Given the description of an element on the screen output the (x, y) to click on. 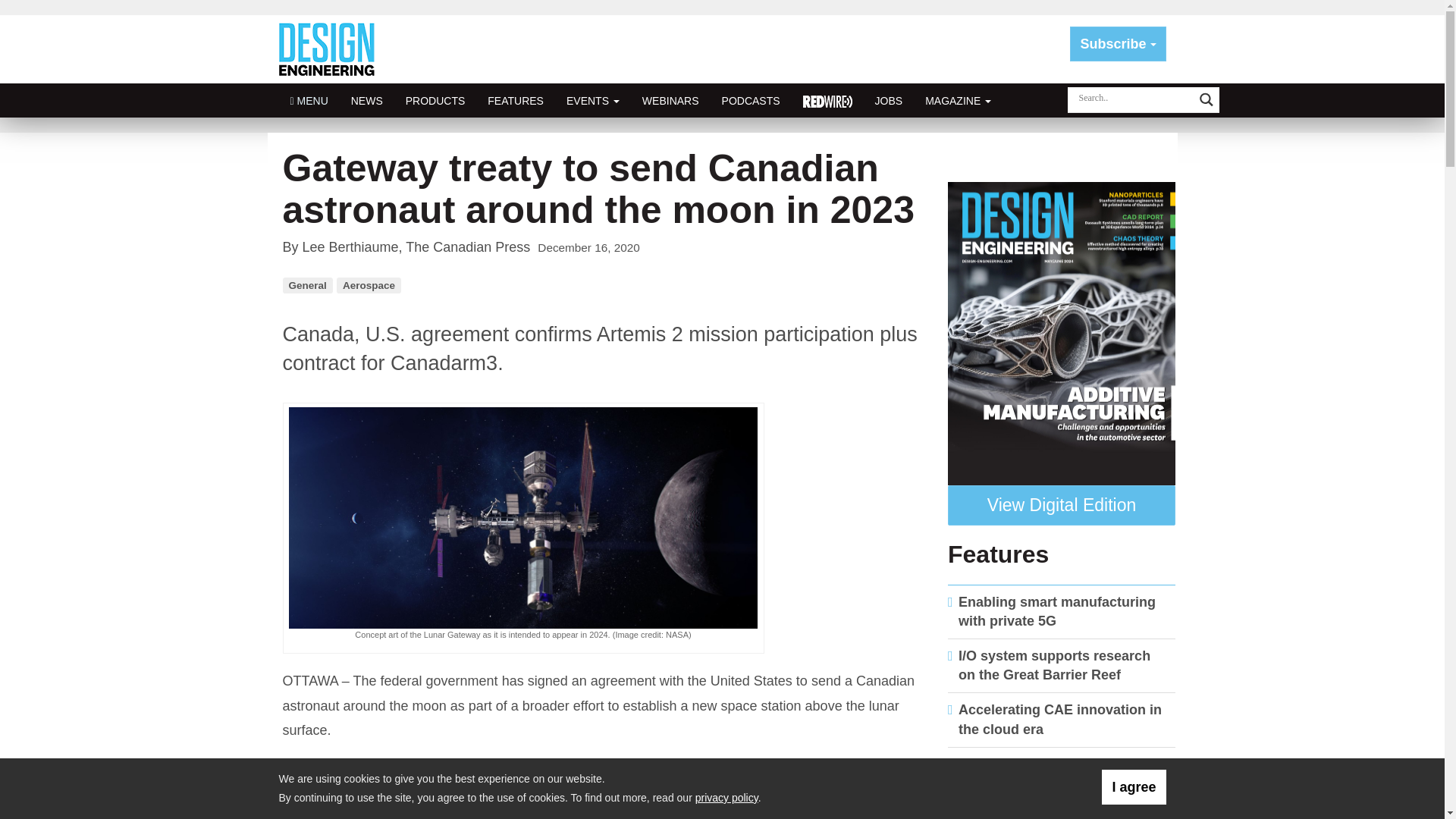
PRODUCTS (435, 100)
JOBS (888, 100)
Click to show site navigation (309, 100)
Design Engineering (332, 48)
NEWS (366, 100)
EVENTS (592, 100)
MAGAZINE (958, 100)
FEATURES (515, 100)
Subscribe (1118, 43)
WEBINARS (670, 100)
MENU (309, 100)
PODCASTS (751, 100)
